Given the description of an element on the screen output the (x, y) to click on. 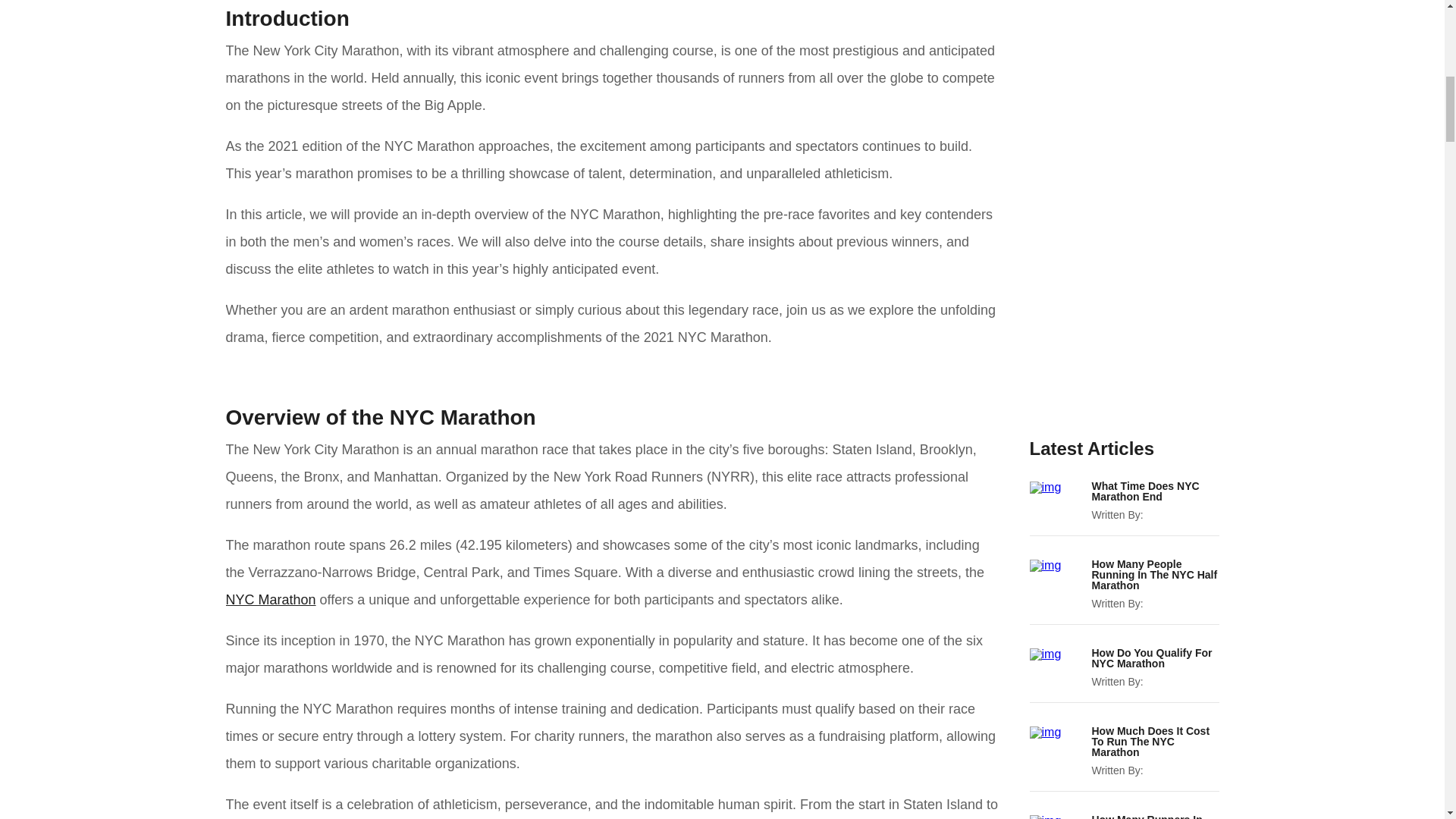
NYC Marathon (270, 599)
